Given the description of an element on the screen output the (x, y) to click on. 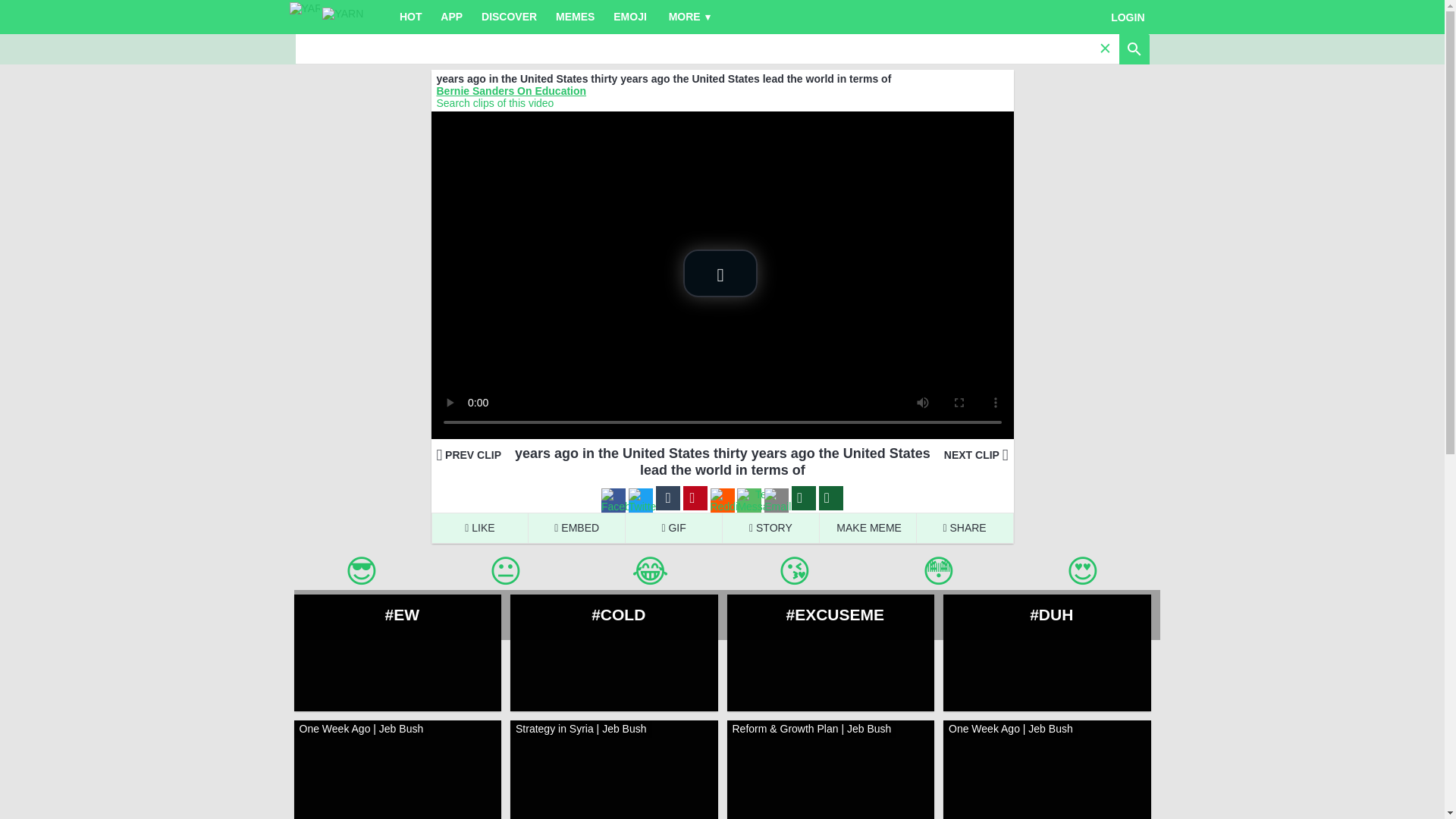
MEMES (575, 17)
Share on Pinterest (694, 499)
DISCOVER (509, 17)
Search (697, 48)
EMOJI (630, 17)
Previous Clip (468, 455)
Share on Tumblr (667, 499)
Copy to Clipboard (830, 499)
EMBED (576, 527)
